Given the description of an element on the screen output the (x, y) to click on. 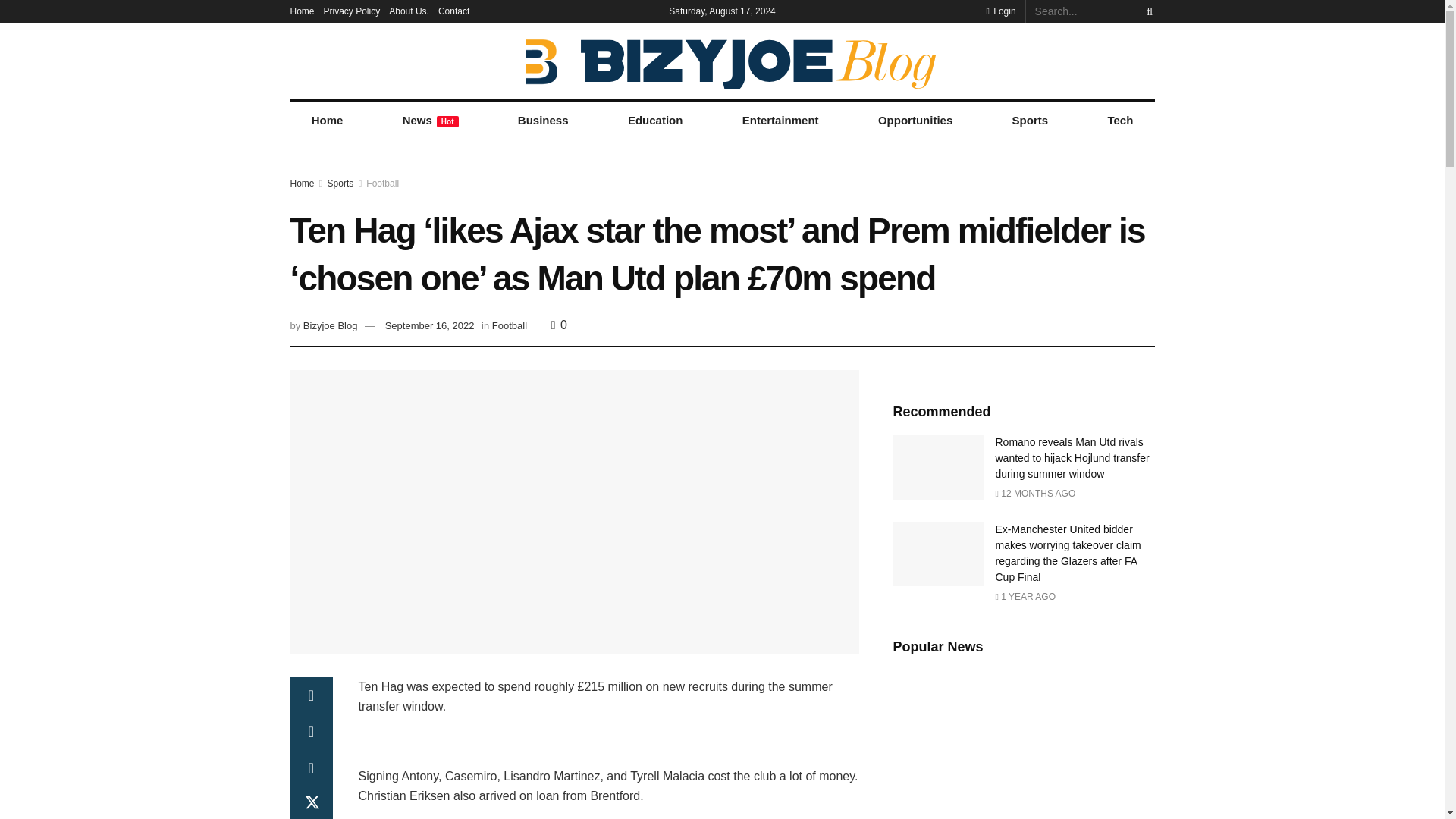
Contact (453, 11)
Business (542, 120)
Home (301, 11)
Entertainment (780, 120)
0 (559, 324)
Education (655, 120)
Home (326, 120)
NewsHot (430, 120)
Football (382, 183)
Opportunities (915, 120)
